Given the description of an element on the screen output the (x, y) to click on. 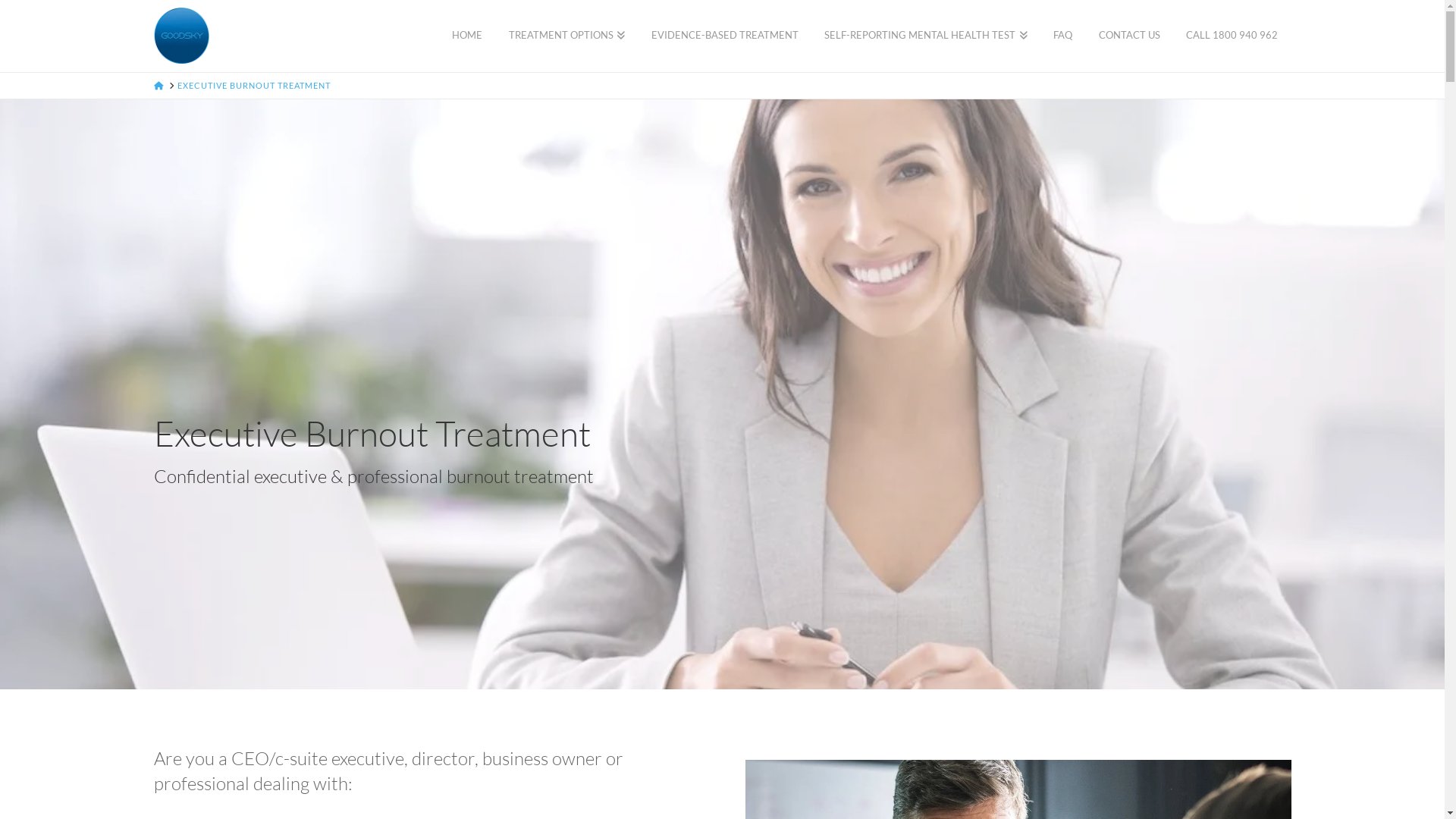
SELF-REPORTING MENTAL HEALTH TEST Element type: text (925, 36)
EVIDENCE-BASED TREATMENT Element type: text (724, 36)
EXECUTIVE BURNOUT TREATMENT Element type: text (253, 85)
CALL 1800 940 962 Element type: text (1232, 36)
FAQ Element type: text (1062, 36)
CONTACT US Element type: text (1129, 36)
HOME Element type: text (158, 85)
HOME Element type: text (467, 36)
TREATMENT OPTIONS Element type: text (566, 36)
